Given the description of an element on the screen output the (x, y) to click on. 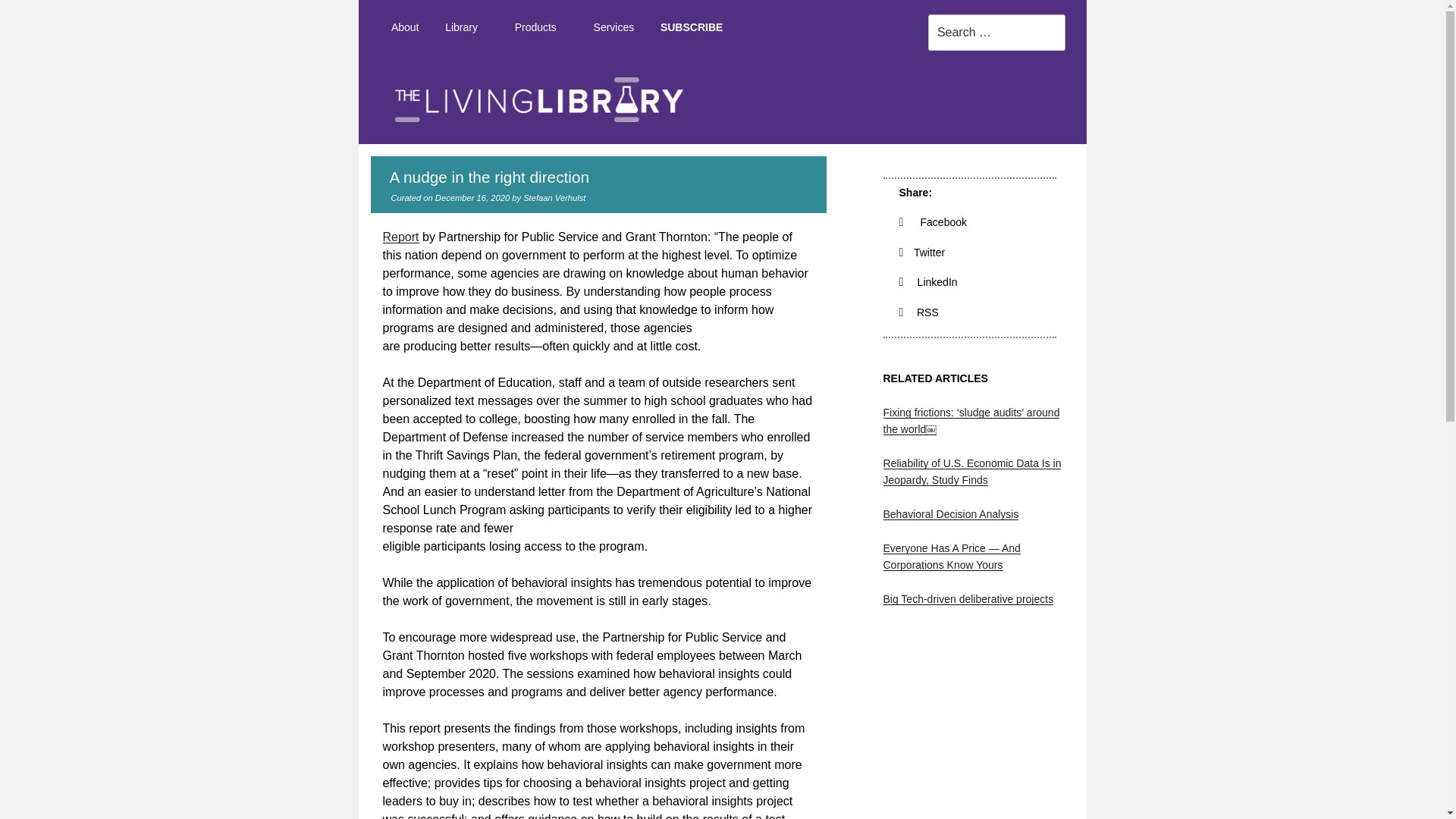
SUBSCRIBE (68, 211)
December 16, 2020 (472, 197)
Library (466, 27)
Products (540, 27)
Services (612, 27)
THE LIVING LIBRARY (1117, 158)
  Facebook (933, 222)
RSS (919, 312)
LinkedIn (928, 282)
SUBSCRIBE (692, 27)
About (403, 27)
Report (400, 236)
Twitter (921, 252)
Stefaan Verhulst (553, 197)
